Given the description of an element on the screen output the (x, y) to click on. 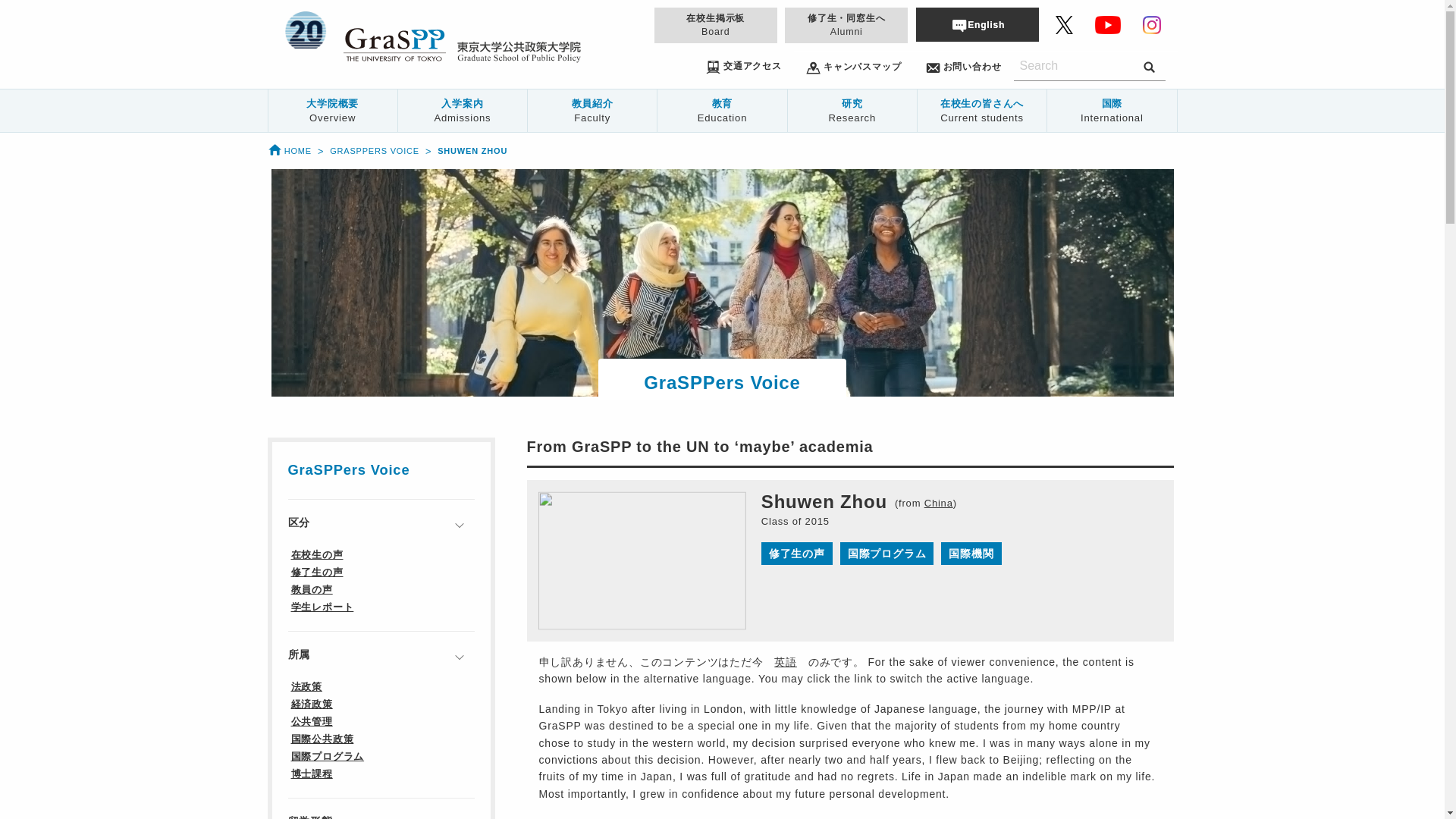
China (938, 503)
English (975, 24)
English (975, 24)
Home (288, 150)
Expand (459, 657)
Expand (459, 814)
English (785, 662)
Shuwen Zhou (472, 150)
Expand (459, 525)
GraSPPers Voice (374, 150)
